Given the description of an element on the screen output the (x, y) to click on. 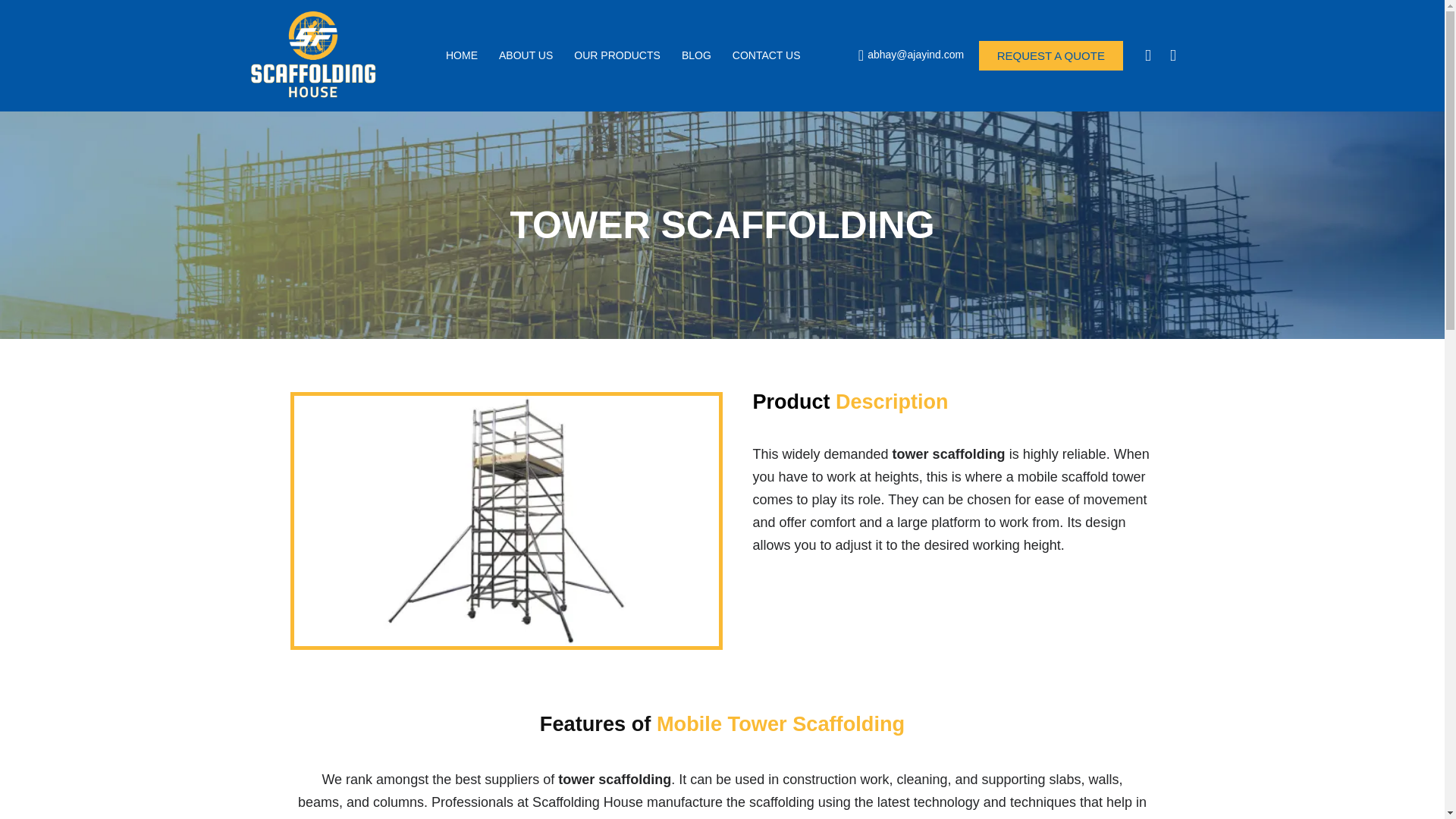
OUR PRODUCTS (617, 55)
BLOG (696, 55)
ABOUT US (525, 55)
CONTACT US (766, 55)
REQUEST A QUOTE (1050, 55)
HOME (461, 55)
